Given the description of an element on the screen output the (x, y) to click on. 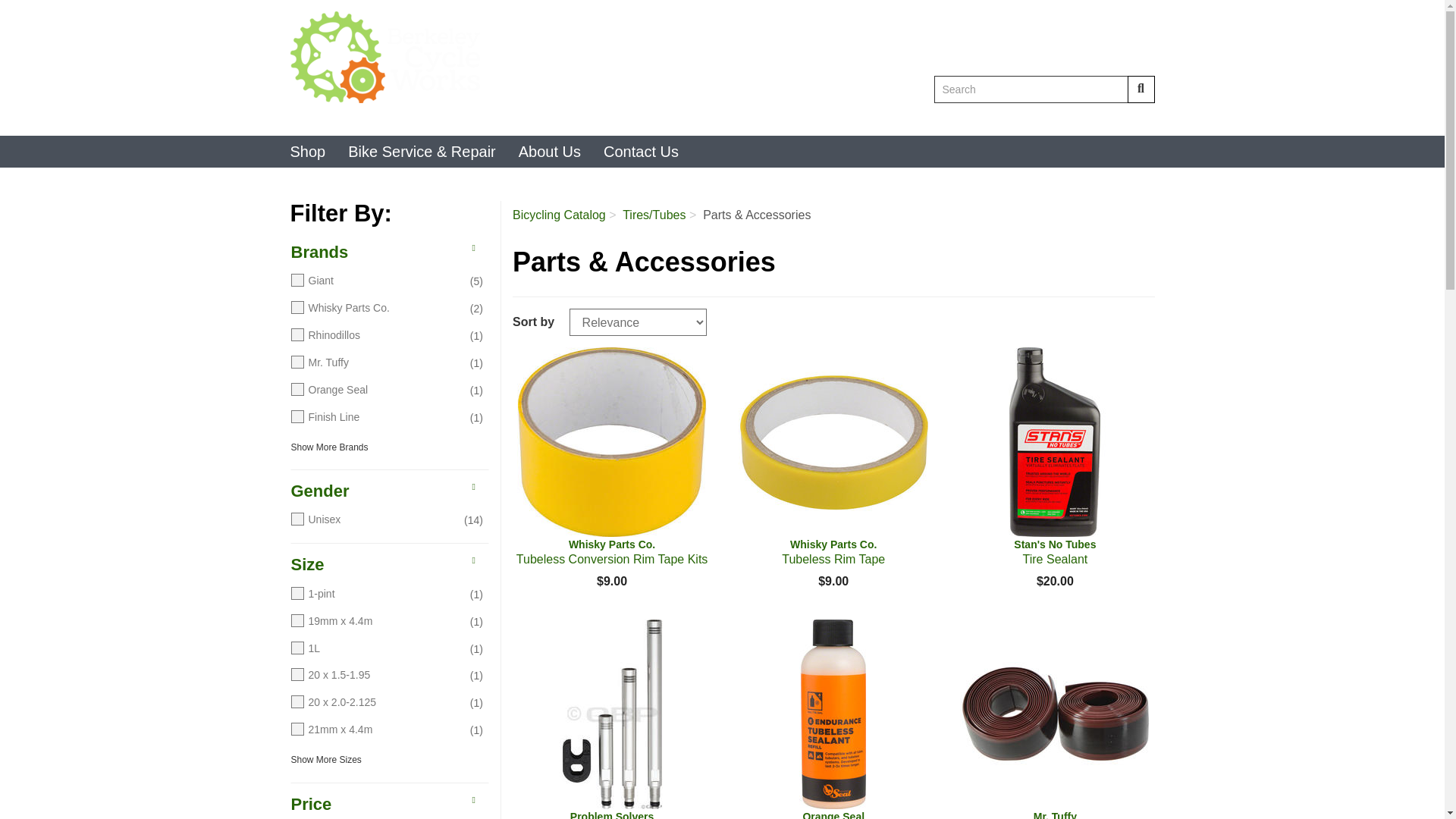
Search (1030, 118)
Berkeley Cycle Works Home Page (1140, 89)
Cart (1089, 118)
Search (499, 57)
Shop (1139, 118)
Store (1139, 118)
Account (1031, 89)
